Given the description of an element on the screen output the (x, y) to click on. 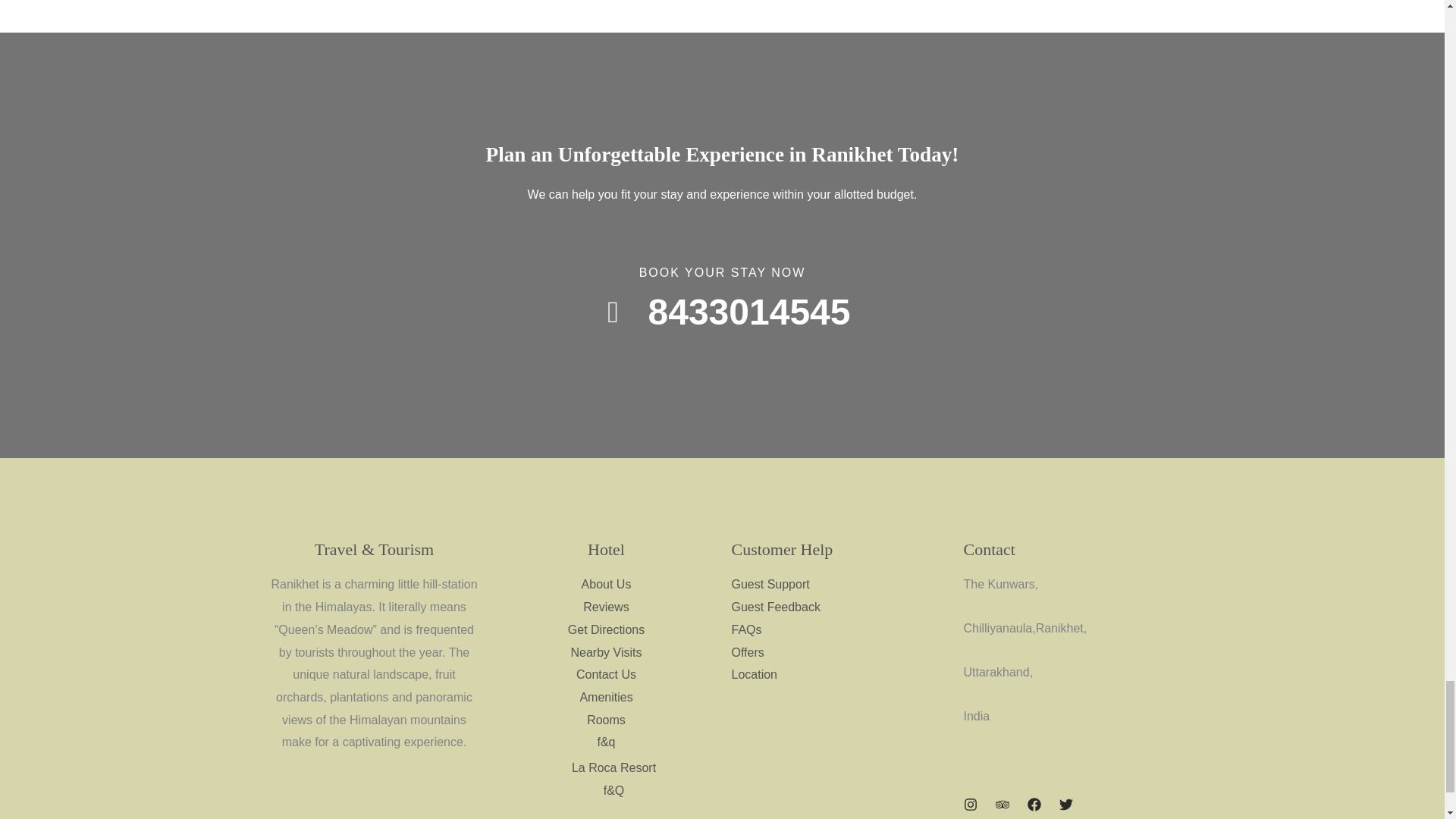
Rooms (606, 719)
Reviews (605, 606)
Nearby Visits (606, 652)
Contact Us (606, 674)
Get Directions (606, 629)
Amenities (605, 697)
About Us (605, 584)
